Given the description of an element on the screen output the (x, y) to click on. 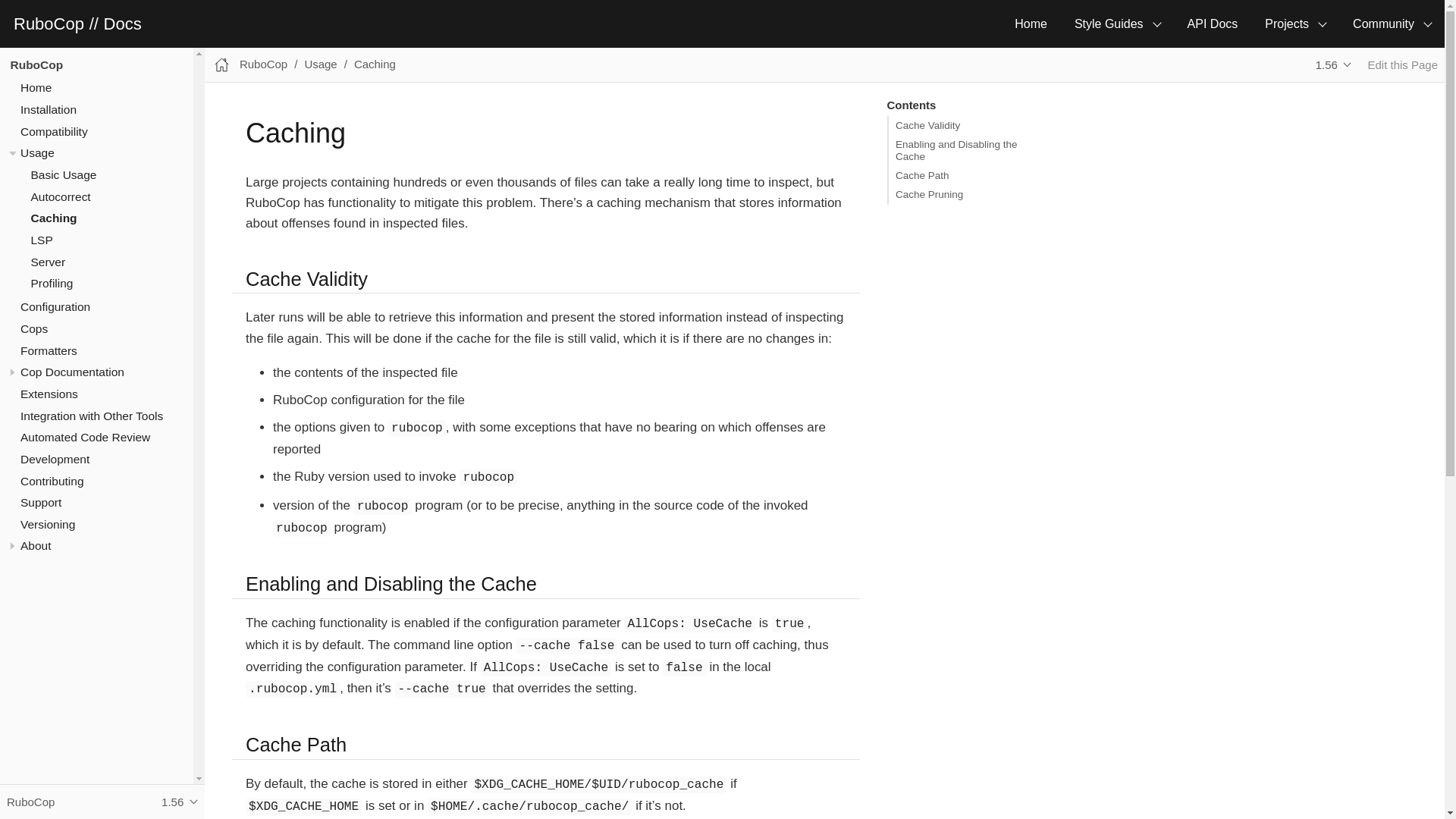
LSP (41, 239)
Configuration (55, 306)
Projects (1294, 23)
Home (1031, 23)
Basic Usage (63, 174)
Profiling (51, 282)
Docs (122, 23)
RuboCop (50, 23)
Compatibility (53, 131)
RuboCop (37, 64)
Home (35, 87)
Style Guides (1117, 23)
Autocorrect (60, 196)
Caching (53, 217)
Formatters (48, 350)
